Given the description of an element on the screen output the (x, y) to click on. 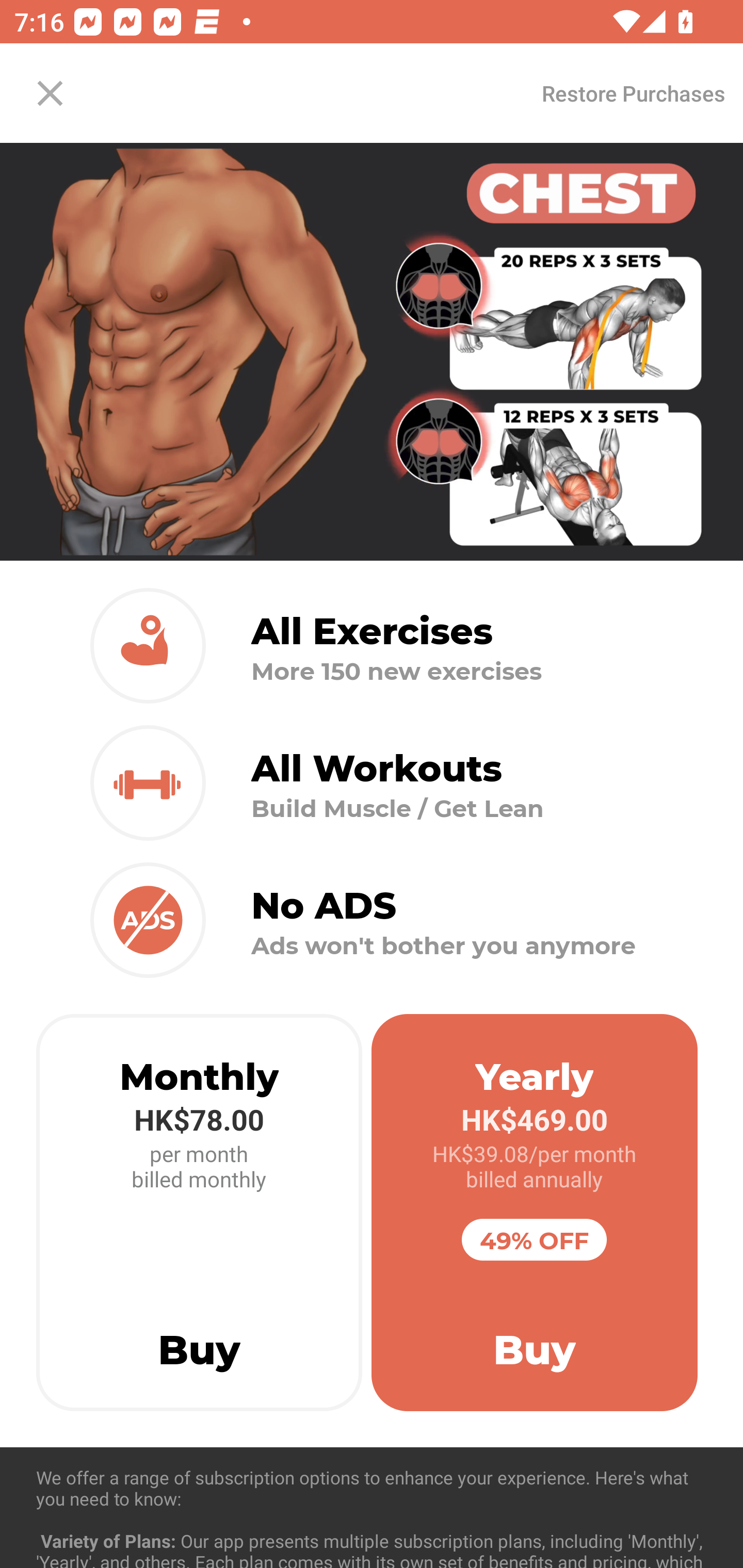
Restore Purchases (632, 92)
Monthly HK$78.00 per month
billed monthly Buy (199, 1212)
